Given the description of an element on the screen output the (x, y) to click on. 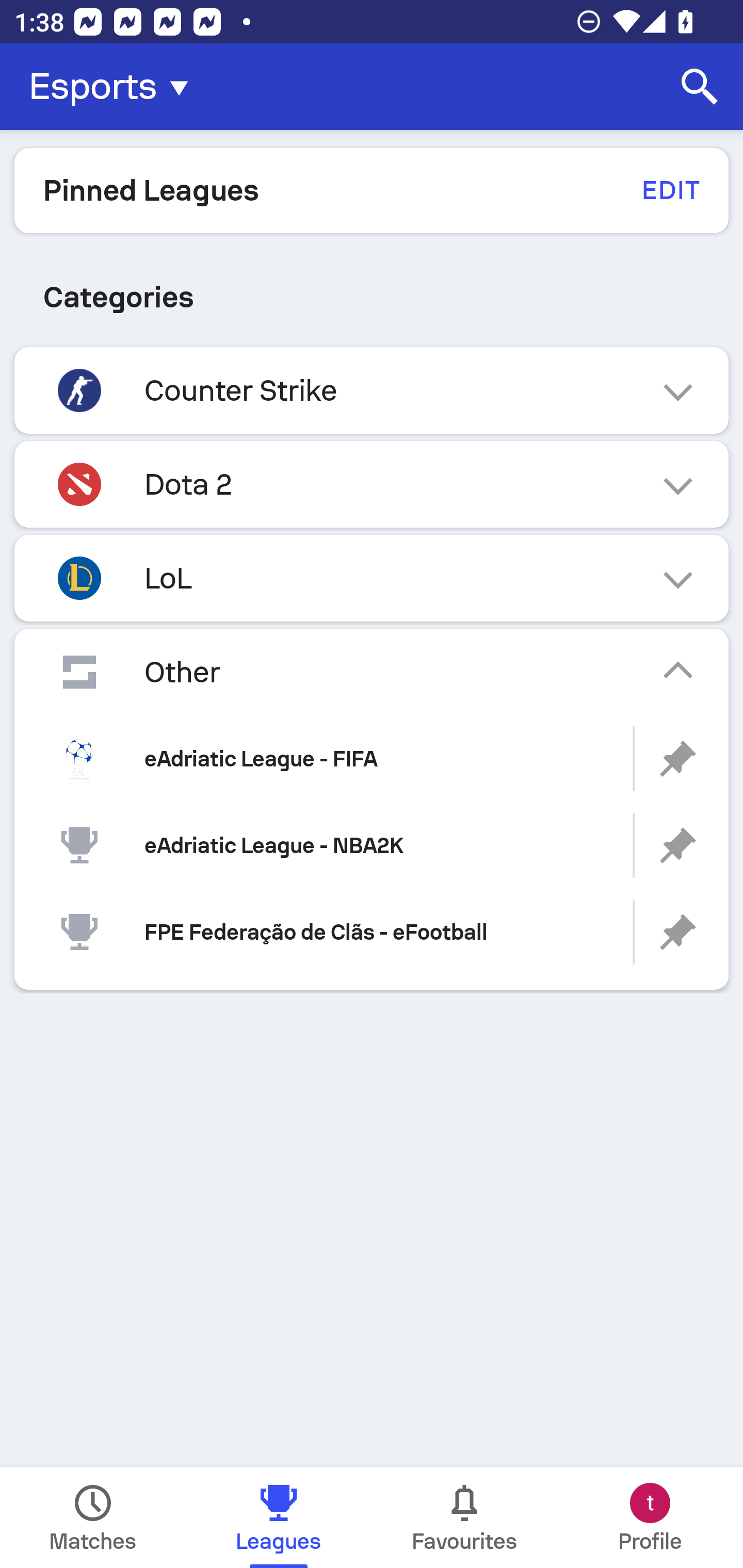
Esports (114, 86)
Search (699, 86)
Pinned Leagues EDIT (371, 190)
EDIT (670, 190)
Categories (371, 296)
Counter Strike (371, 390)
Dota 2 (371, 484)
LoL (371, 577)
Other (371, 671)
eAdriatic League - FIFA (371, 758)
eAdriatic League - NBA2K (371, 845)
FPE Federação de Clãs - eFootball (371, 932)
Matches (92, 1517)
Favourites (464, 1517)
Profile (650, 1517)
